Given the description of an element on the screen output the (x, y) to click on. 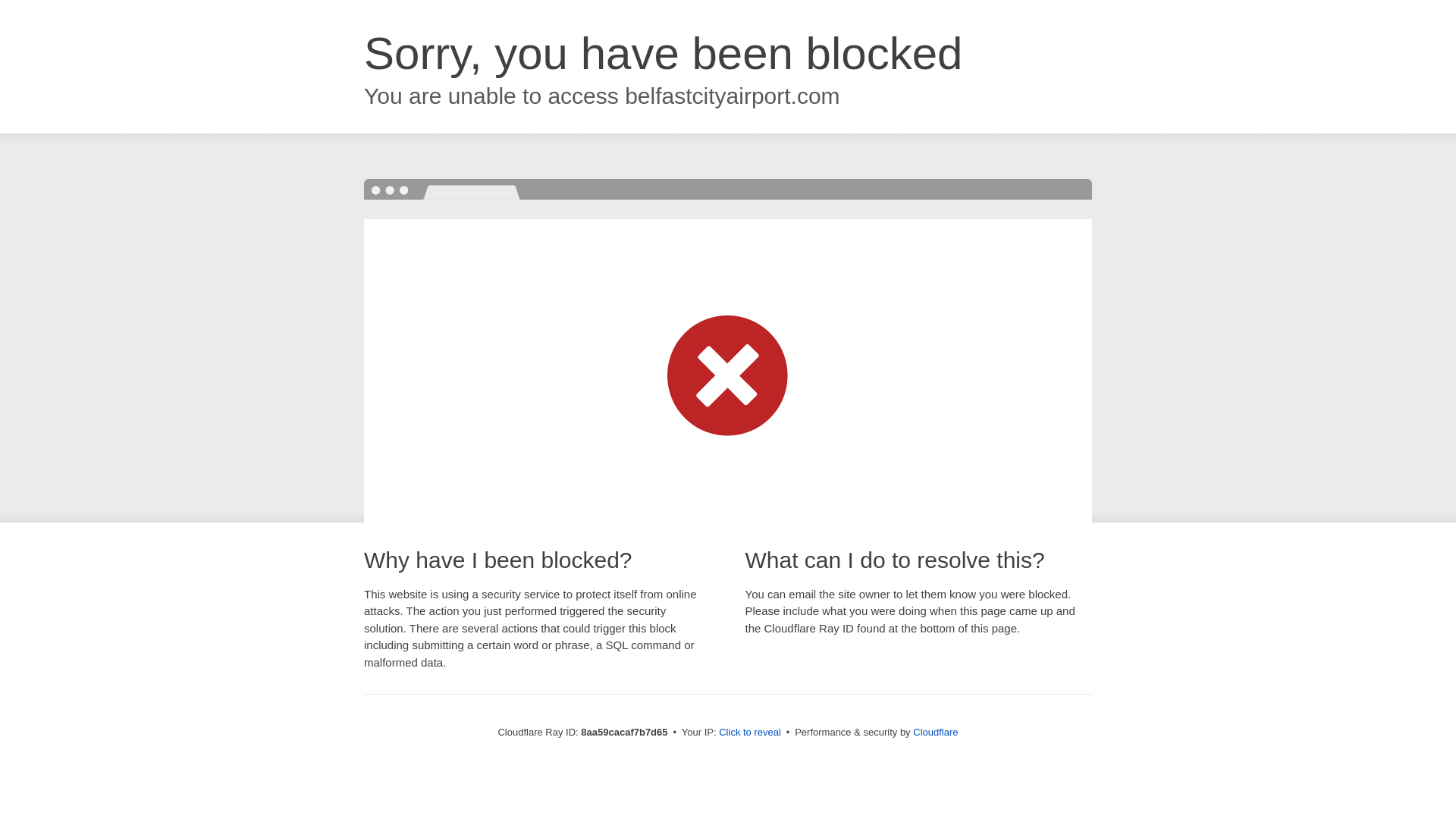
Click to reveal (749, 732)
Cloudflare (935, 731)
